Given the description of an element on the screen output the (x, y) to click on. 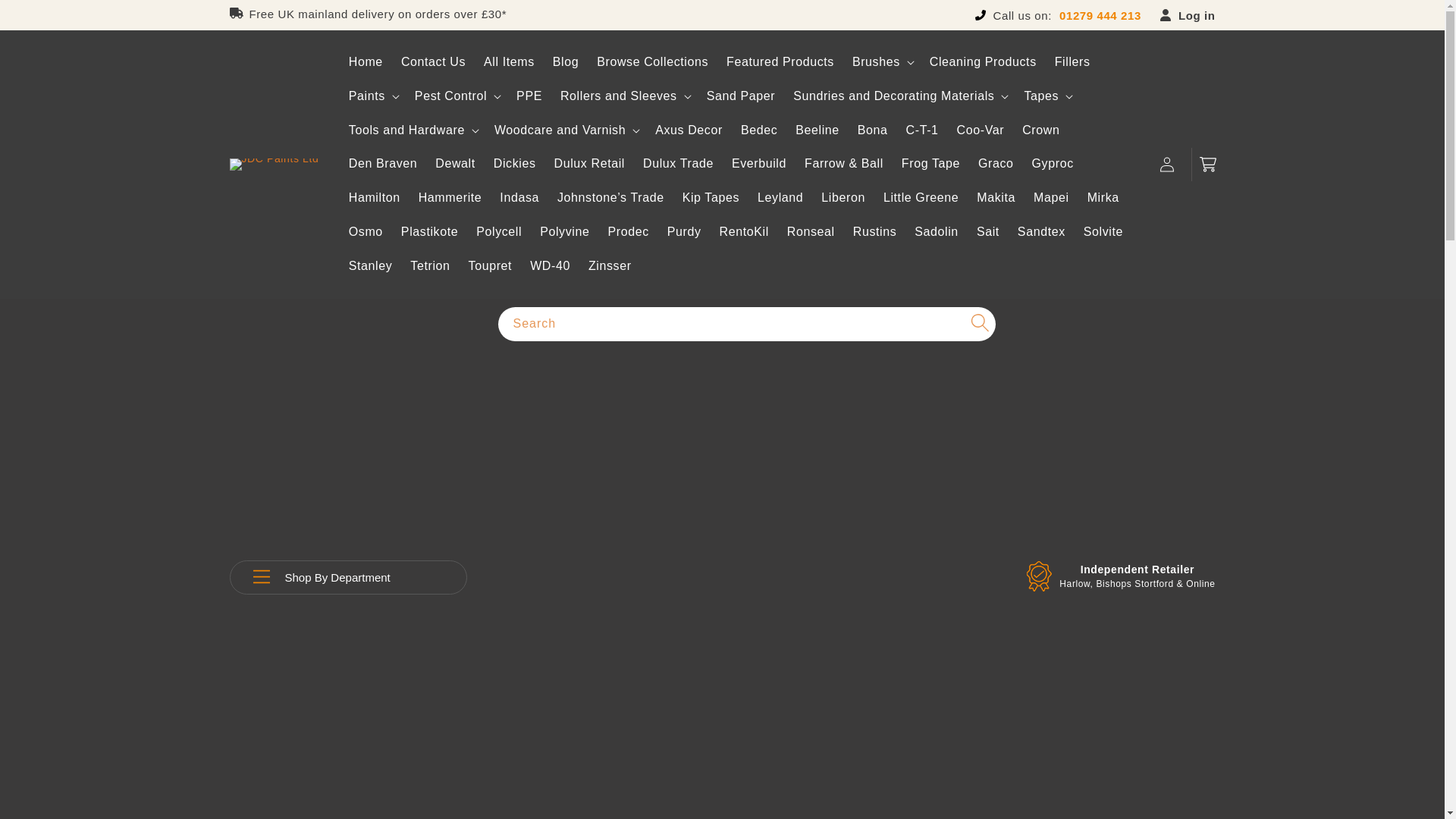
01279 444 213 (1096, 14)
Skip to content (45, 17)
Log in (1187, 14)
